Given the description of an element on the screen output the (x, y) to click on. 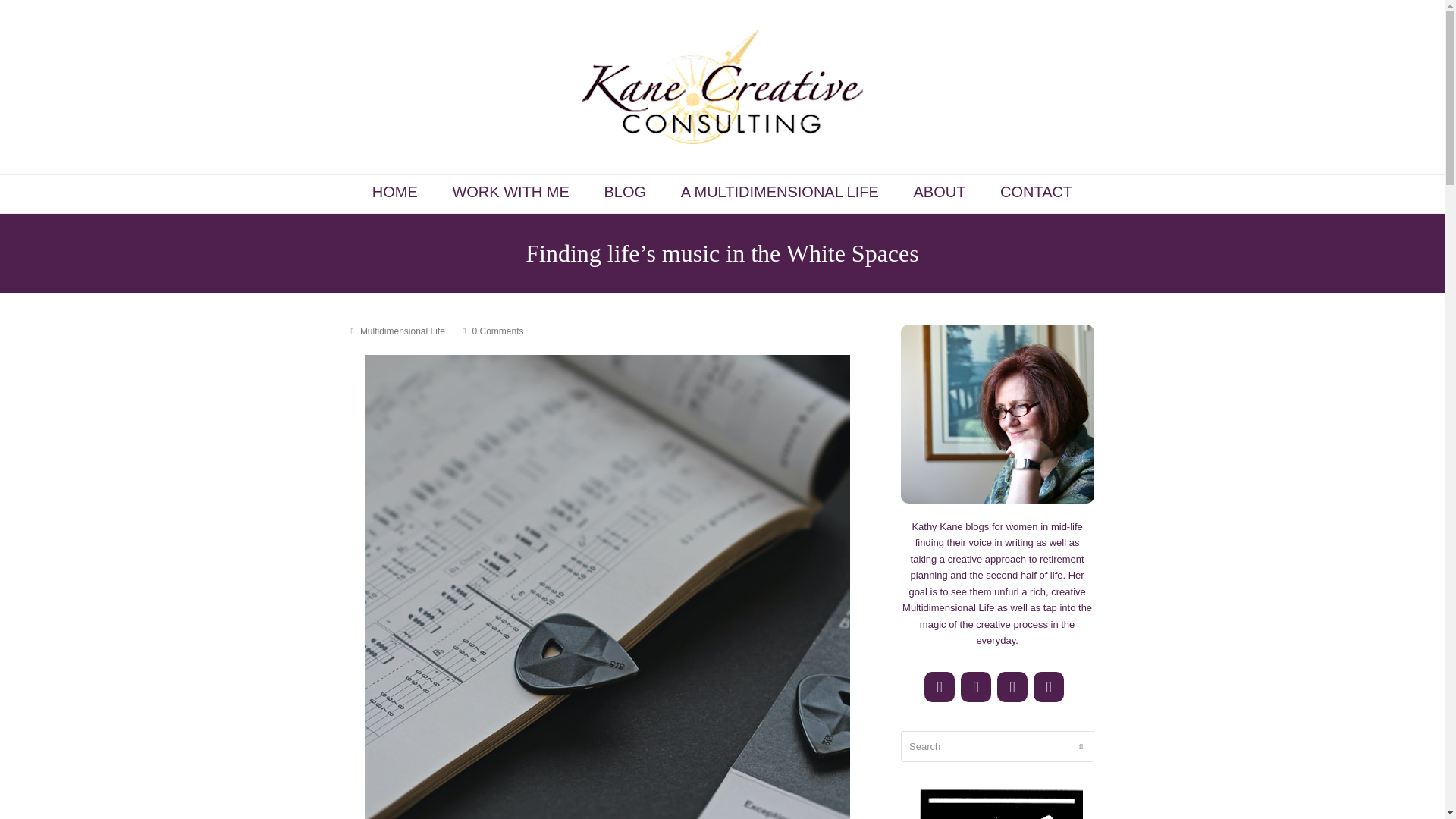
WORK WITH ME (510, 193)
0 Comments (497, 330)
BLOG (625, 193)
A MULTIDIMENSIONAL LIFE (780, 193)
Facebook (939, 686)
Twitter (975, 686)
0 Comments (492, 331)
HOME (394, 193)
ABOUT (938, 193)
Multidimensional Life (402, 330)
LinkedIn (1012, 686)
Contact (1048, 686)
CONTACT (1035, 193)
